Given the description of an element on the screen output the (x, y) to click on. 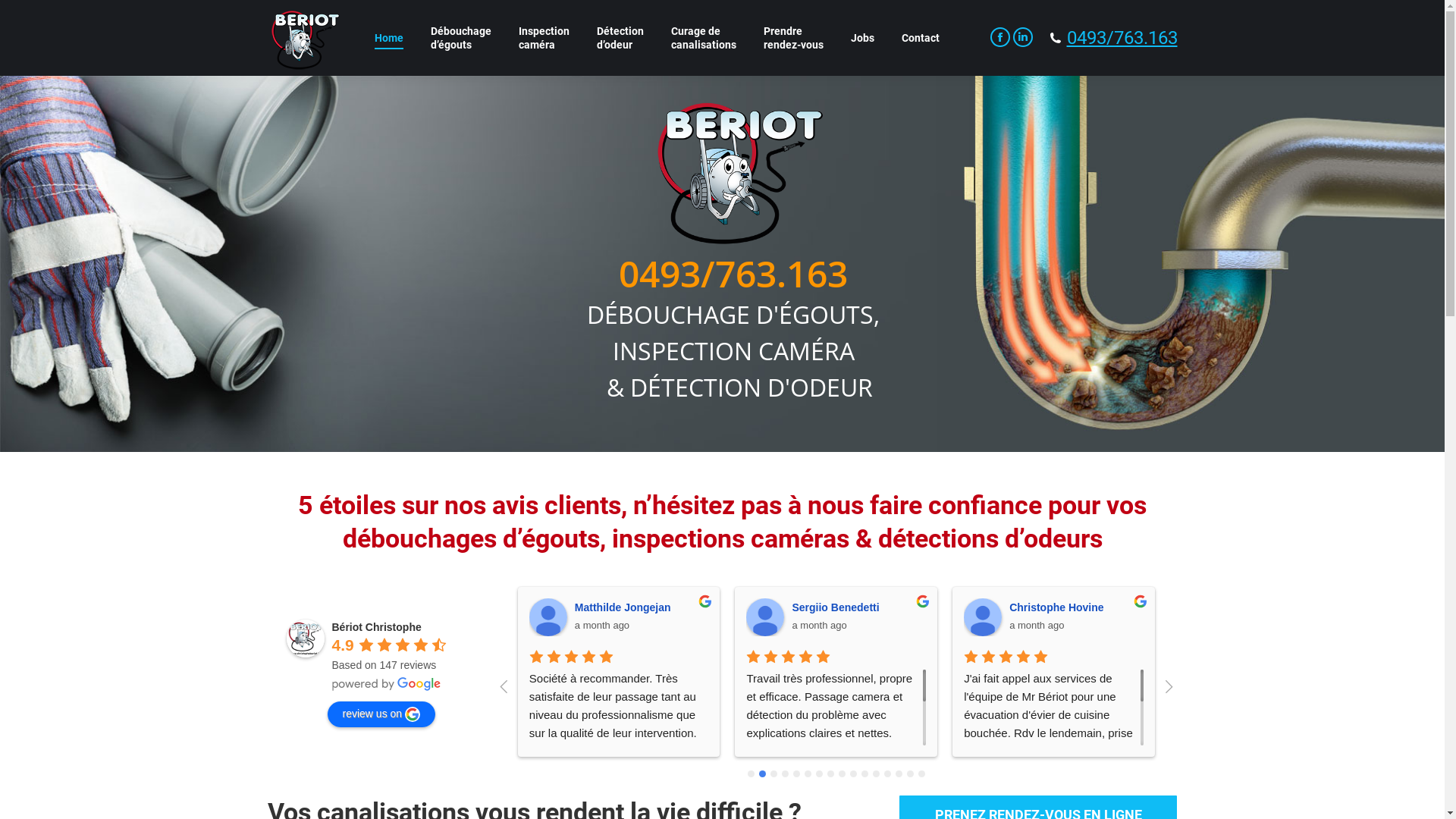
review us on Element type: text (381, 714)
Xavier Dockx Element type: text (393, 607)
Curage de
canalisations Element type: text (703, 37)
Sergiio Benedetti Element type: hover (765, 617)
Matthilde Jongejan Element type: text (842, 607)
Leonard Thienpondt Element type: text (627, 607)
Facebook page opens in new window Element type: text (1000, 37)
Julien Aiello Element type: hover (1417, 617)
David Jelgersma Element type: hover (1200, 617)
0493/763.163 Element type: text (732, 273)
Home Element type: text (388, 37)
0493/763.163 Element type: text (1121, 37)
Christophe Hovine Element type: hover (982, 617)
Linkedin page opens in new window Element type: text (1022, 37)
powered by Google Element type: hover (386, 683)
Contact Element type: text (920, 37)
Leonard Thienpondt Element type: hover (330, 617)
Matthilde Jongejan Element type: hover (548, 617)
Sergiio Benedetti Element type: text (1055, 607)
Prendre
rendez-vous Element type: text (793, 37)
Christophe Hovine Element type: text (1275, 607)
Xavier Dockx Element type: hover (112, 617)
Jobs Element type: text (862, 37)
